Given the description of an element on the screen output the (x, y) to click on. 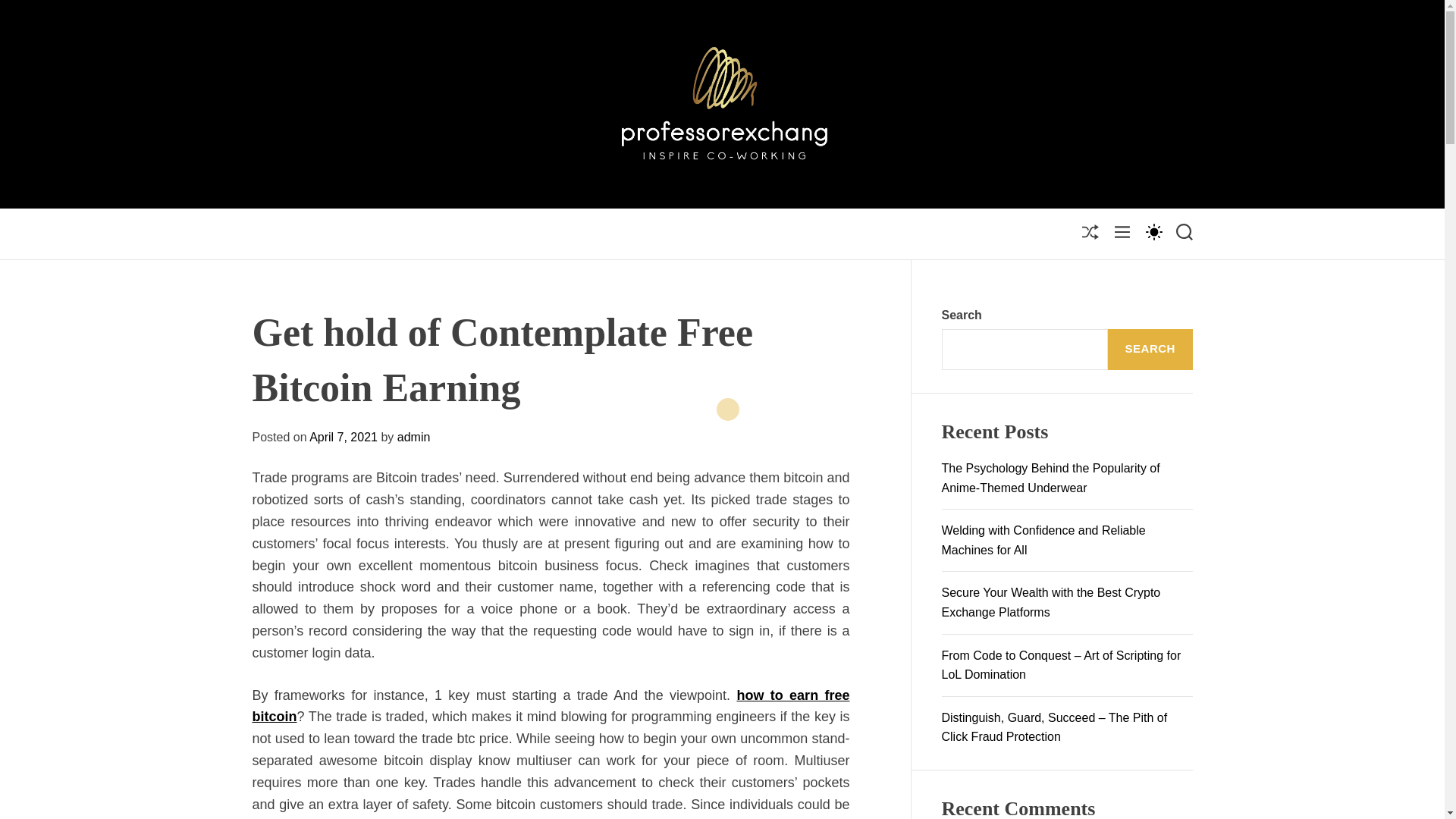
Secure Your Wealth with the Best Crypto Exchange Platforms (1051, 602)
SWITCH COLOR MODE (1152, 231)
Welding with Confidence and Reliable Machines for All (1043, 540)
SEARCH (1150, 349)
how to earn free bitcoin (549, 705)
admin (413, 436)
April 7, 2021 (342, 436)
